Given the description of an element on the screen output the (x, y) to click on. 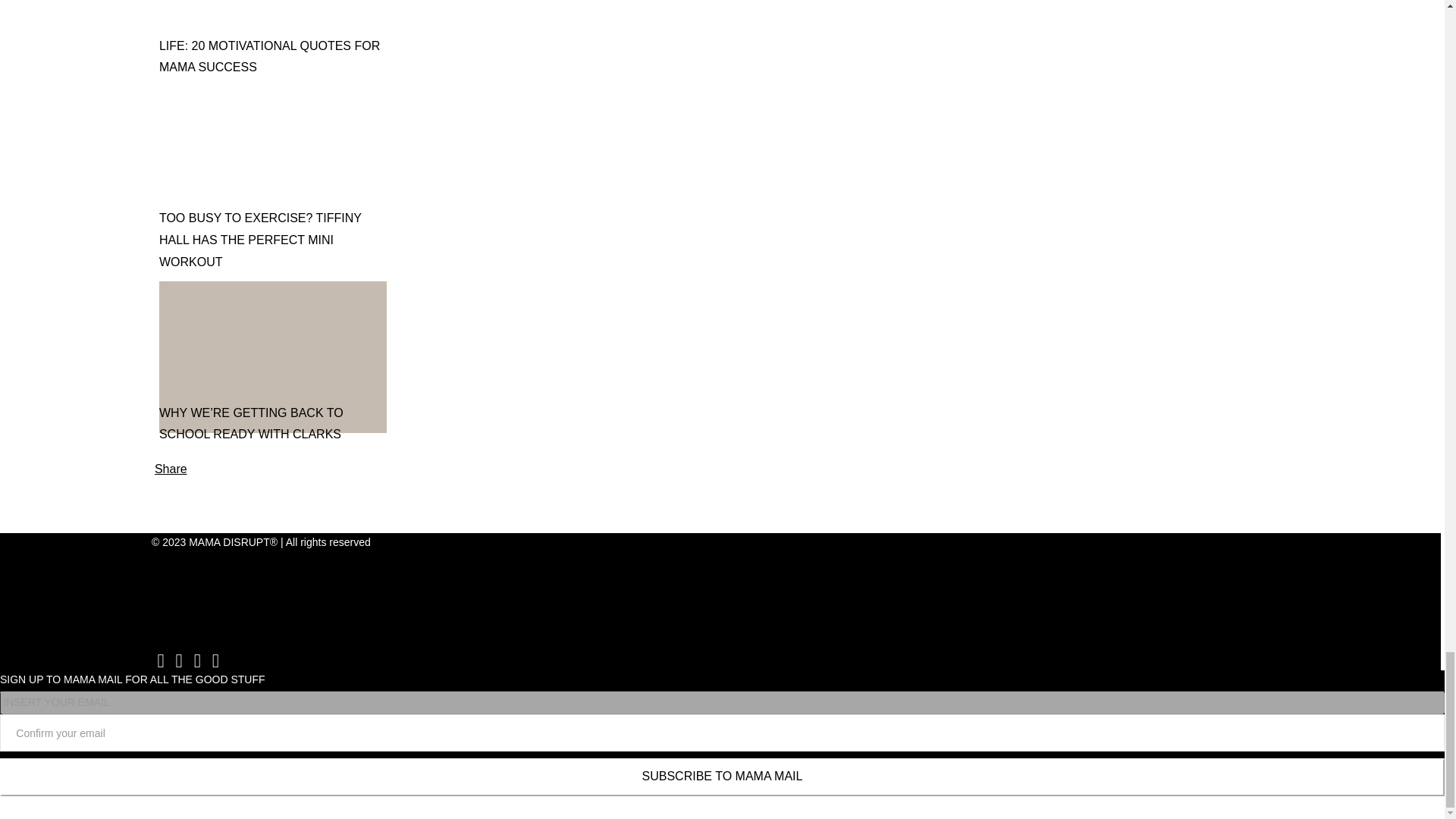
SUBSCRIBE TO MAMA MAIL (722, 777)
